Given the description of an element on the screen output the (x, y) to click on. 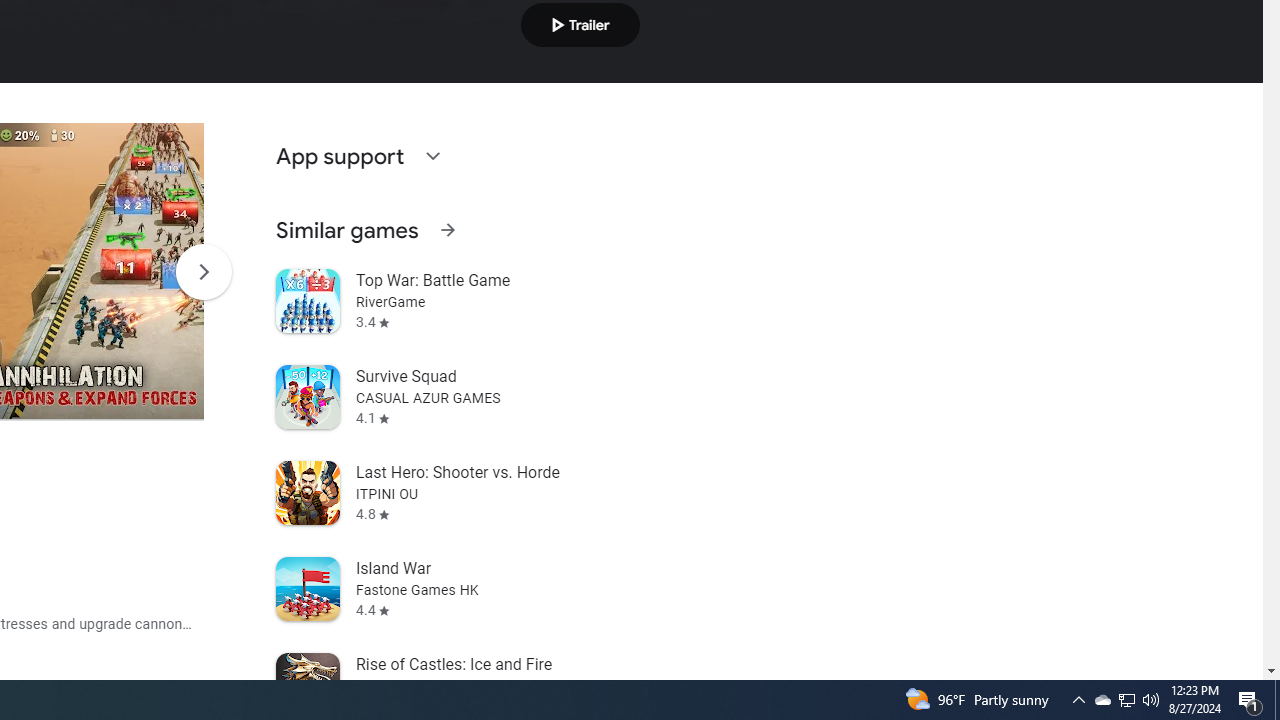
See more information on Similar games (447, 229)
Expand (432, 155)
Scroll Next (203, 272)
Play trailer (580, 24)
